Given the description of an element on the screen output the (x, y) to click on. 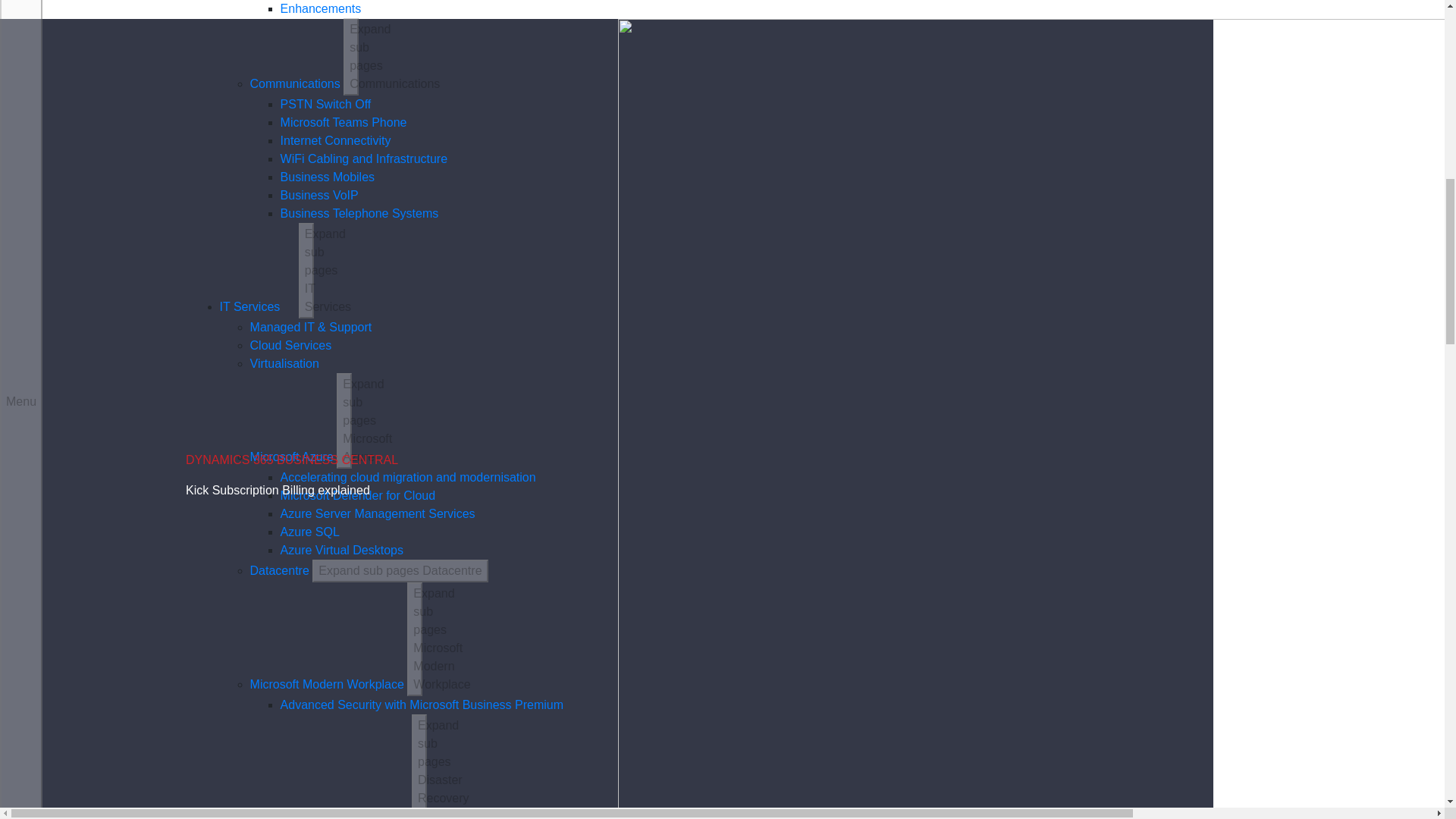
Communications (295, 83)
Microsoft Teams Phone (344, 122)
Enhancements (321, 8)
PSTN Switch Off (326, 103)
WiFi Cabling and Infrastructure (364, 158)
Internet Connectivity (336, 140)
